Given the description of an element on the screen output the (x, y) to click on. 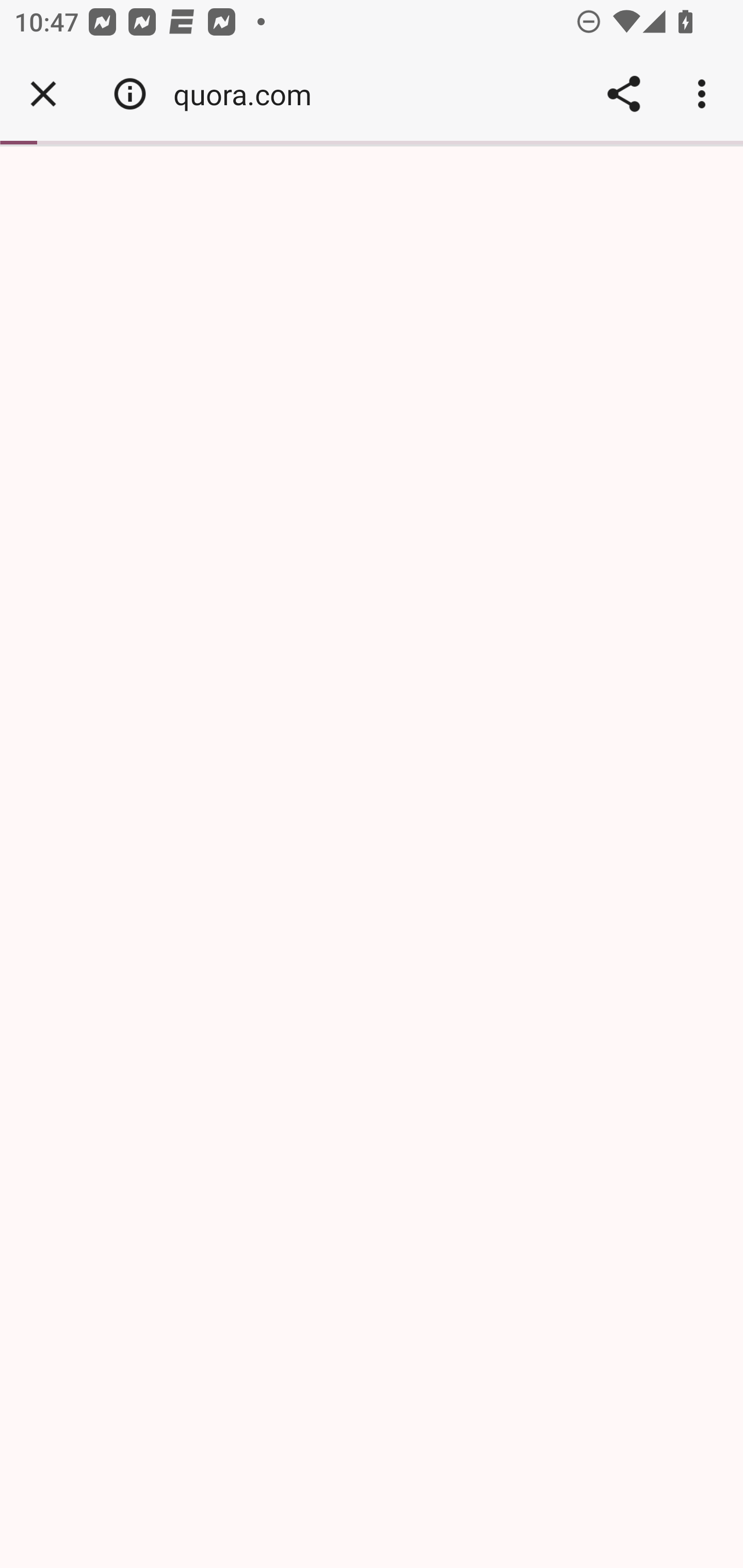
Close tab (43, 93)
Share (623, 93)
Customize and control Google Chrome (705, 93)
Your connection to this site is not secure (129, 93)
quora.com (249, 93)
